Given the description of an element on the screen output the (x, y) to click on. 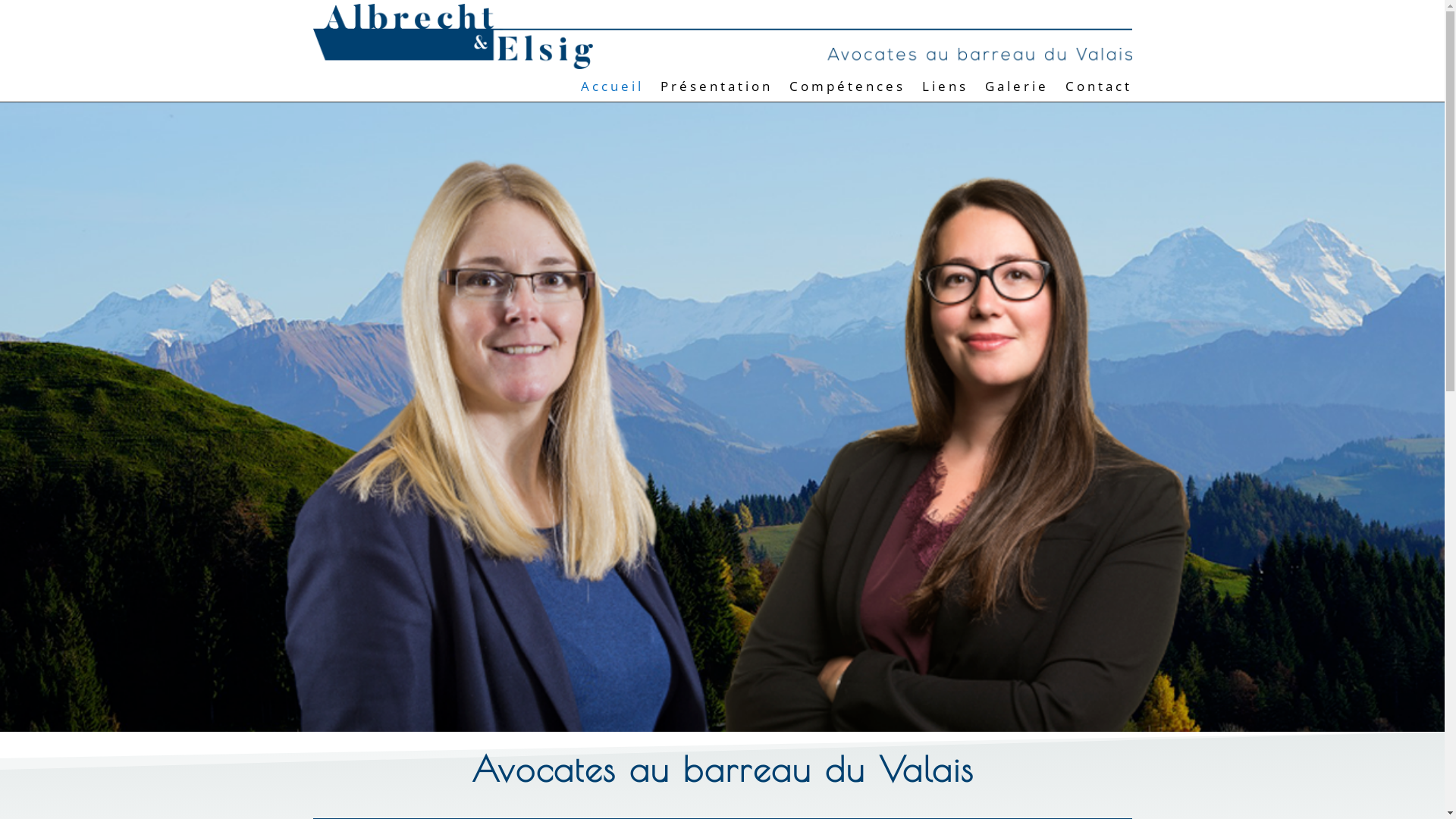
Liens Element type: text (945, 89)
bandeau22-1 Element type: hover (722, 421)
Accueil Element type: text (611, 89)
Albrecht_Elsig_LOGO_WEB Element type: hover (721, 36)
Galerie Element type: text (1016, 89)
Contact Element type: text (1097, 89)
